Given the description of an element on the screen output the (x, y) to click on. 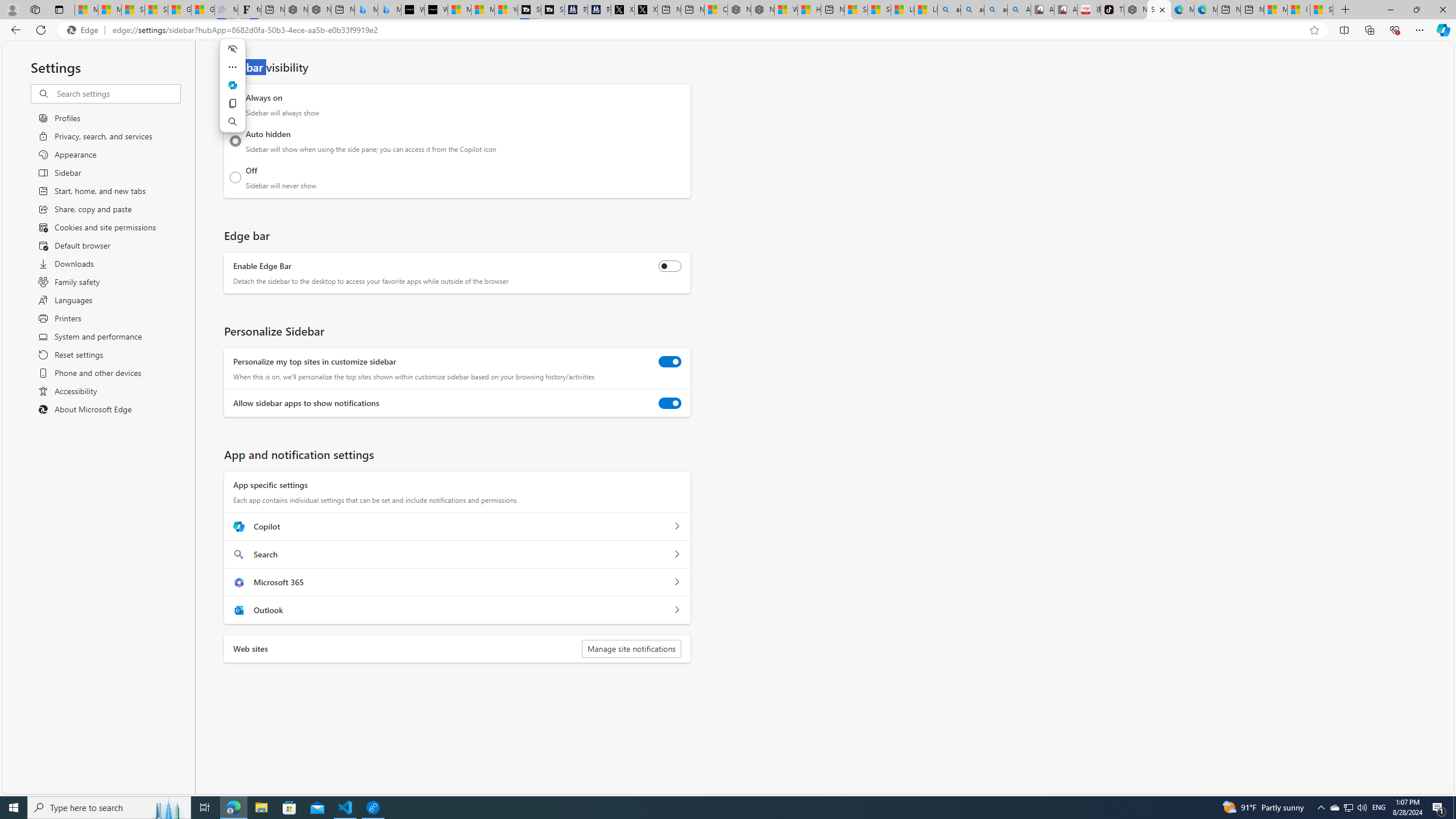
Microsoft Bing Travel - Stays in Bangkok, Bangkok, Thailand (365, 9)
Edge (84, 29)
Outlook (676, 610)
Ask Copilot (231, 85)
Enable Edge Bar (669, 265)
TikTok (1112, 9)
Amazon Echo Robot - Search Images (1019, 9)
Mini menu on text selection (232, 91)
Personalize my top sites in customize sidebar (669, 361)
